Given the description of an element on the screen output the (x, y) to click on. 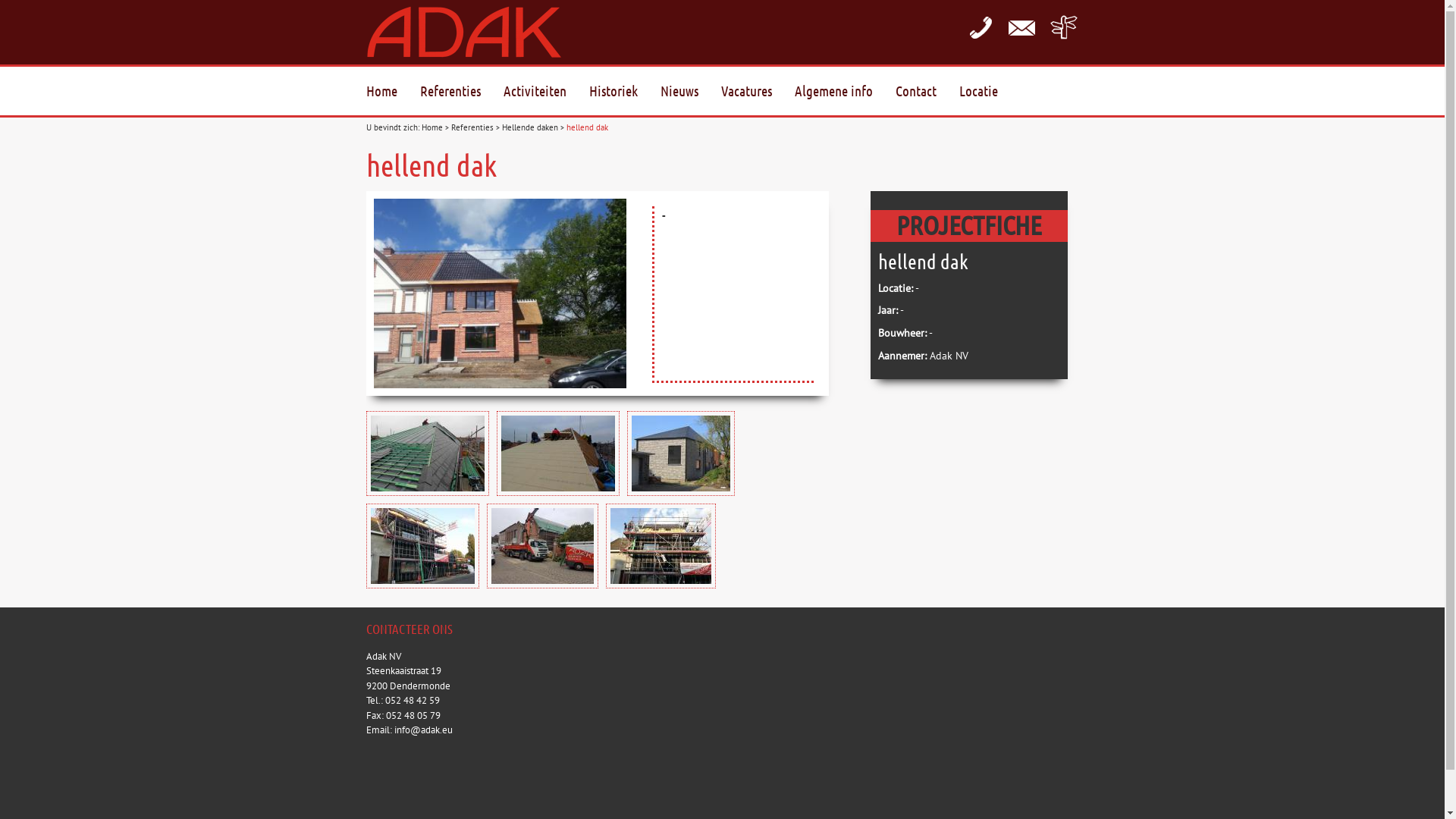
Historiek Element type: text (623, 91)
Home Element type: text (392, 91)
Home Element type: text (431, 127)
Locatie Element type: text (988, 91)
  Element type: text (1063, 26)
Algemene info Element type: text (844, 91)
Contact Element type: text (926, 91)
hellend dak (-) Element type: hover (499, 293)
Referenties Element type: text (461, 91)
Nieuws Element type: text (689, 91)
Neem vrijblijvend contact op via 052 48 42 59. Element type: hover (979, 26)
info@adak.eu Element type: text (423, 729)
Locatie Element type: hover (1063, 26)
Logo Adak Element type: hover (473, 32)
Contact Element type: hover (1022, 26)
Hellende daken Element type: text (530, 127)
Vacatures Element type: text (756, 91)
  Element type: text (1022, 26)
hellend dak Element type: text (586, 127)
Referenties Element type: text (471, 127)
  Element type: text (979, 26)
Activiteiten Element type: text (546, 91)
